Given the description of an element on the screen output the (x, y) to click on. 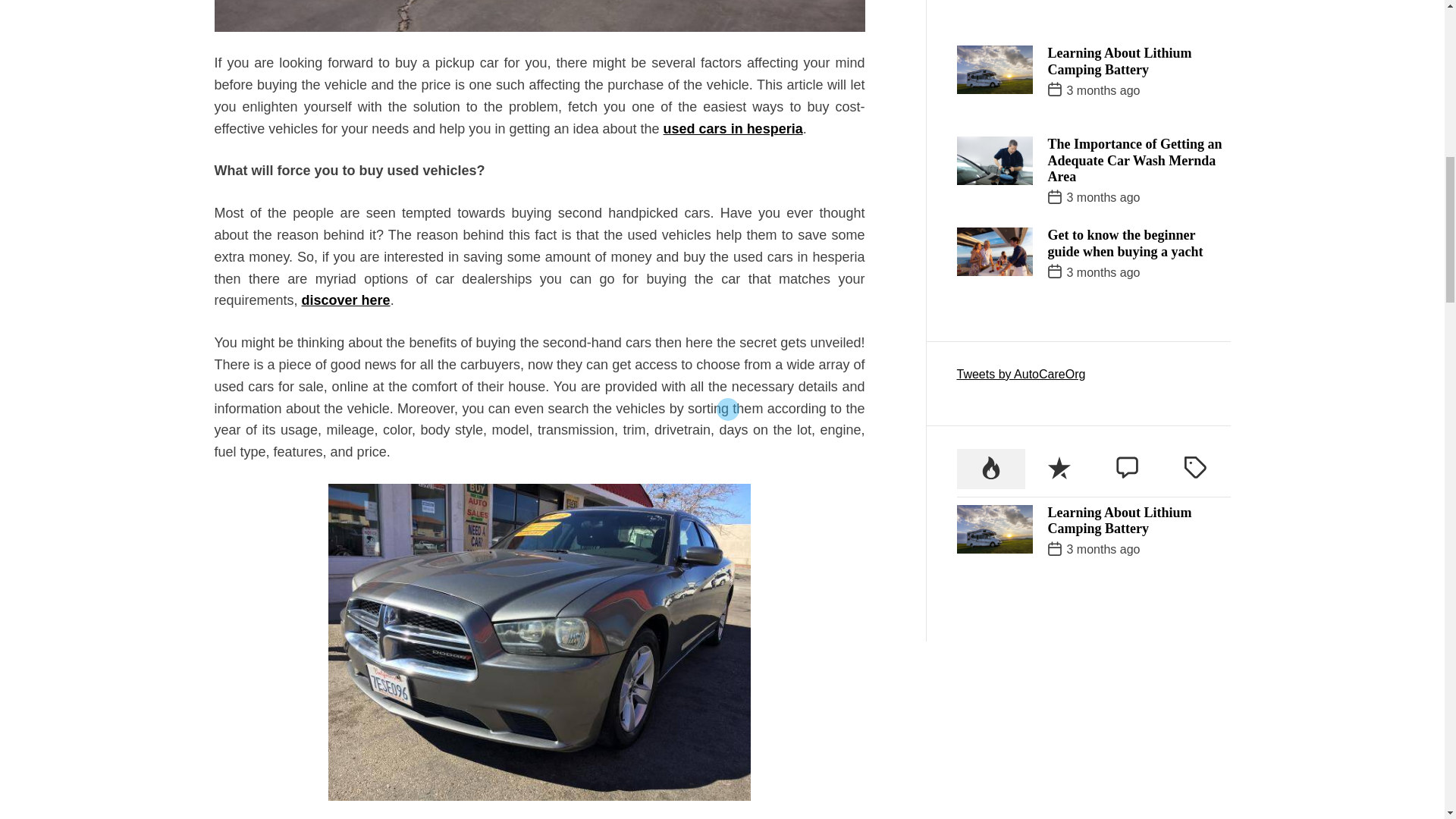
discover here (345, 299)
used cars in hesperia (733, 128)
